Given the description of an element on the screen output the (x, y) to click on. 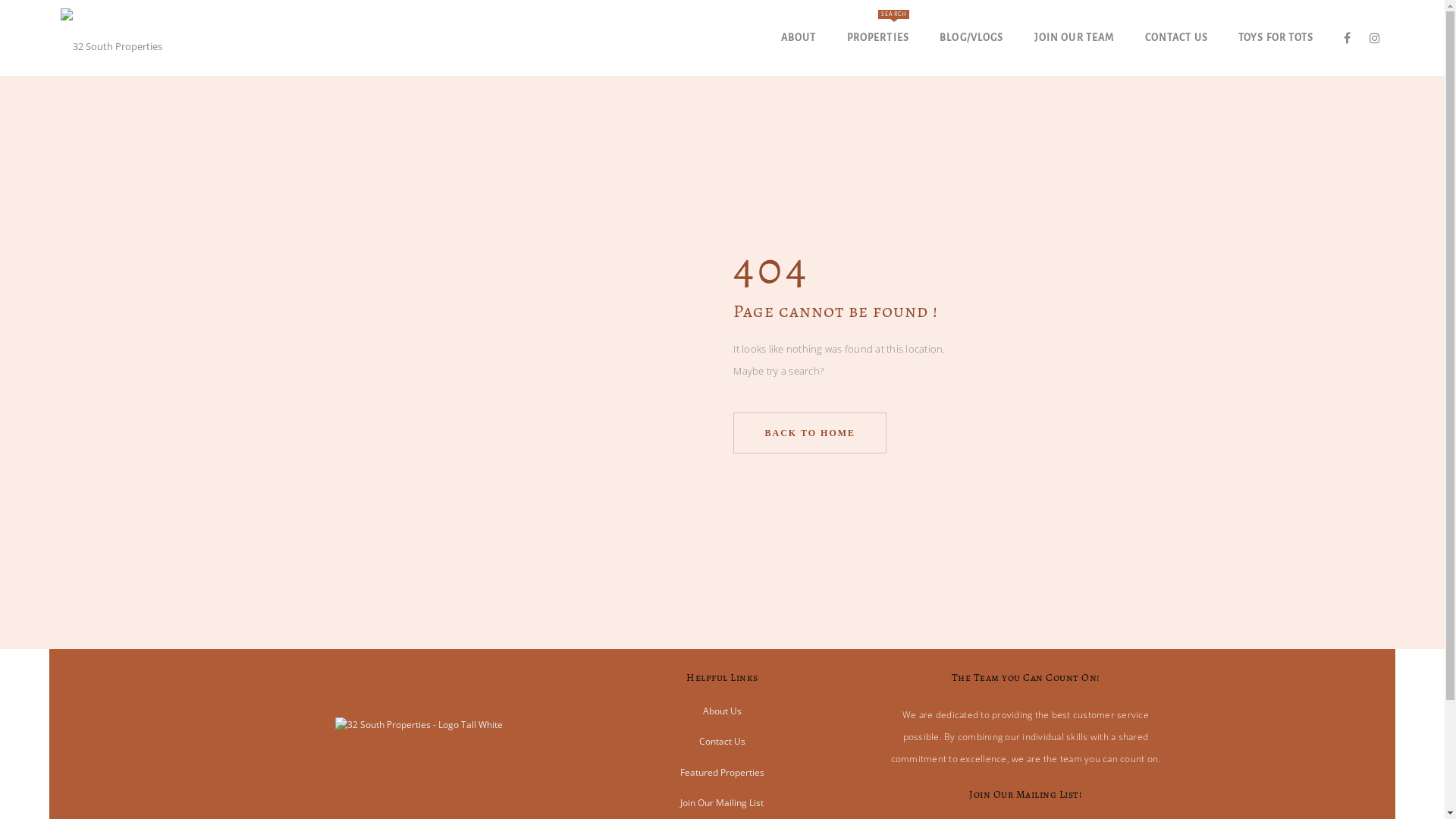
Join Our Mailing List Element type: text (721, 802)
TOYS FOR TOTS Element type: text (1275, 37)
ABOUT Element type: text (798, 37)
Featured Properties Element type: text (722, 771)
About Us Element type: text (721, 710)
32 South Properties - Logo Tall White Element type: hover (418, 702)
JOIN OUR TEAM Element type: text (1074, 37)
BLOG/VLOGS Element type: text (971, 37)
Contact Us Element type: text (722, 740)
CONTACT US Element type: text (1176, 37)
PROPERTIES
SEARCH Element type: text (878, 37)
BACK TO HOME Element type: text (809, 432)
